Given the description of an element on the screen output the (x, y) to click on. 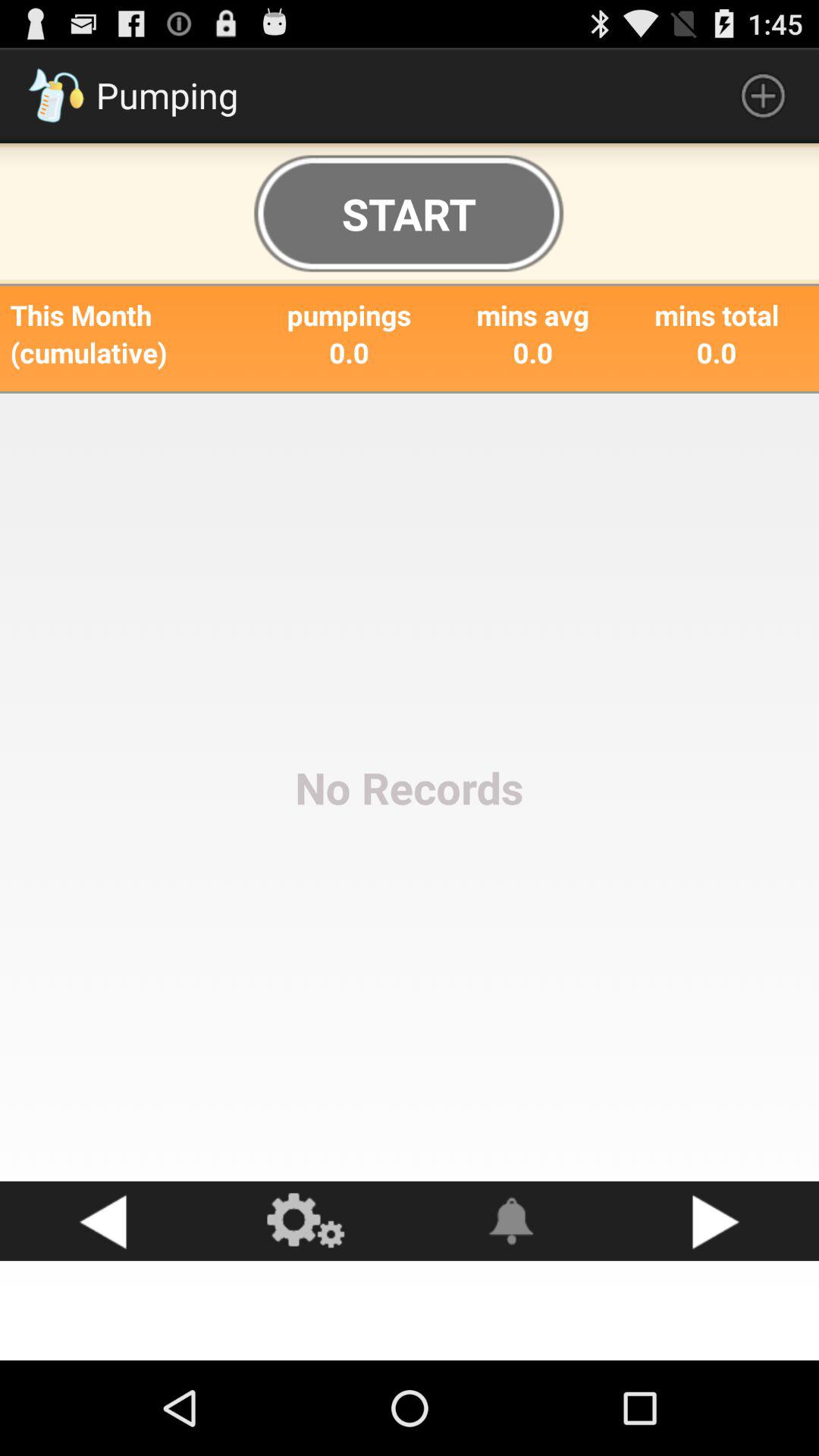
press the icon to the right of the pumping app (763, 95)
